Given the description of an element on the screen output the (x, y) to click on. 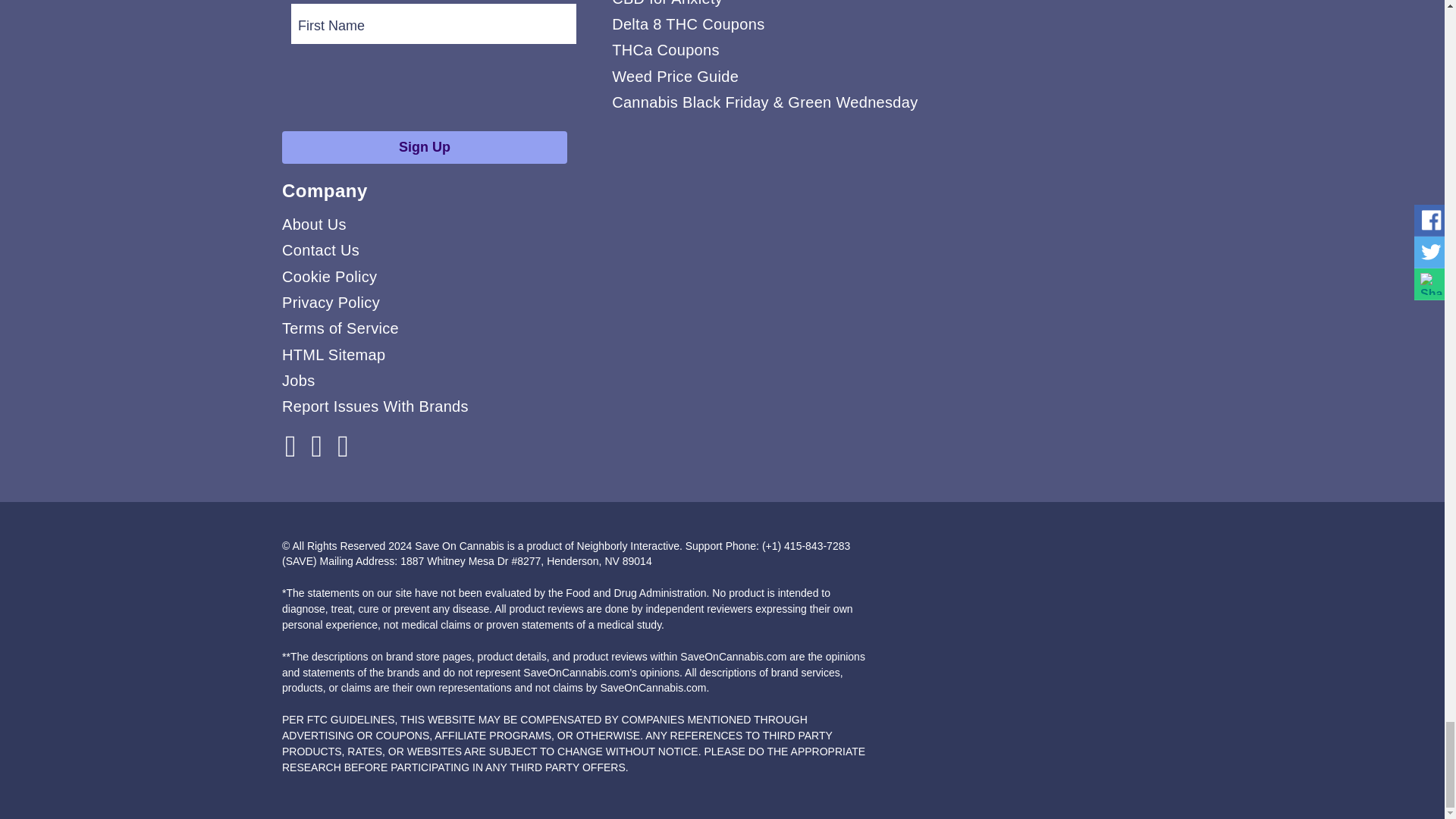
Sign Up (424, 147)
